Given the description of an element on the screen output the (x, y) to click on. 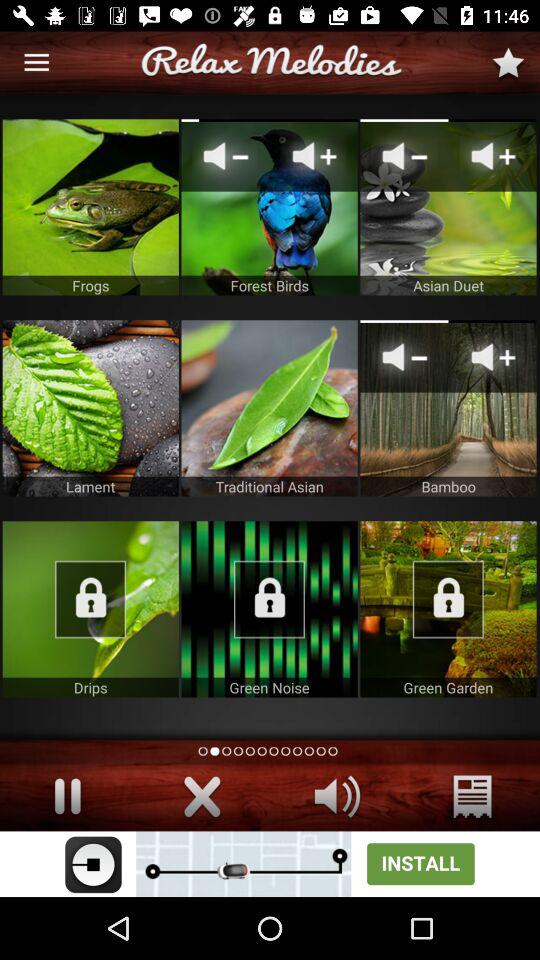
click to the close option (202, 796)
